Given the description of an element on the screen output the (x, y) to click on. 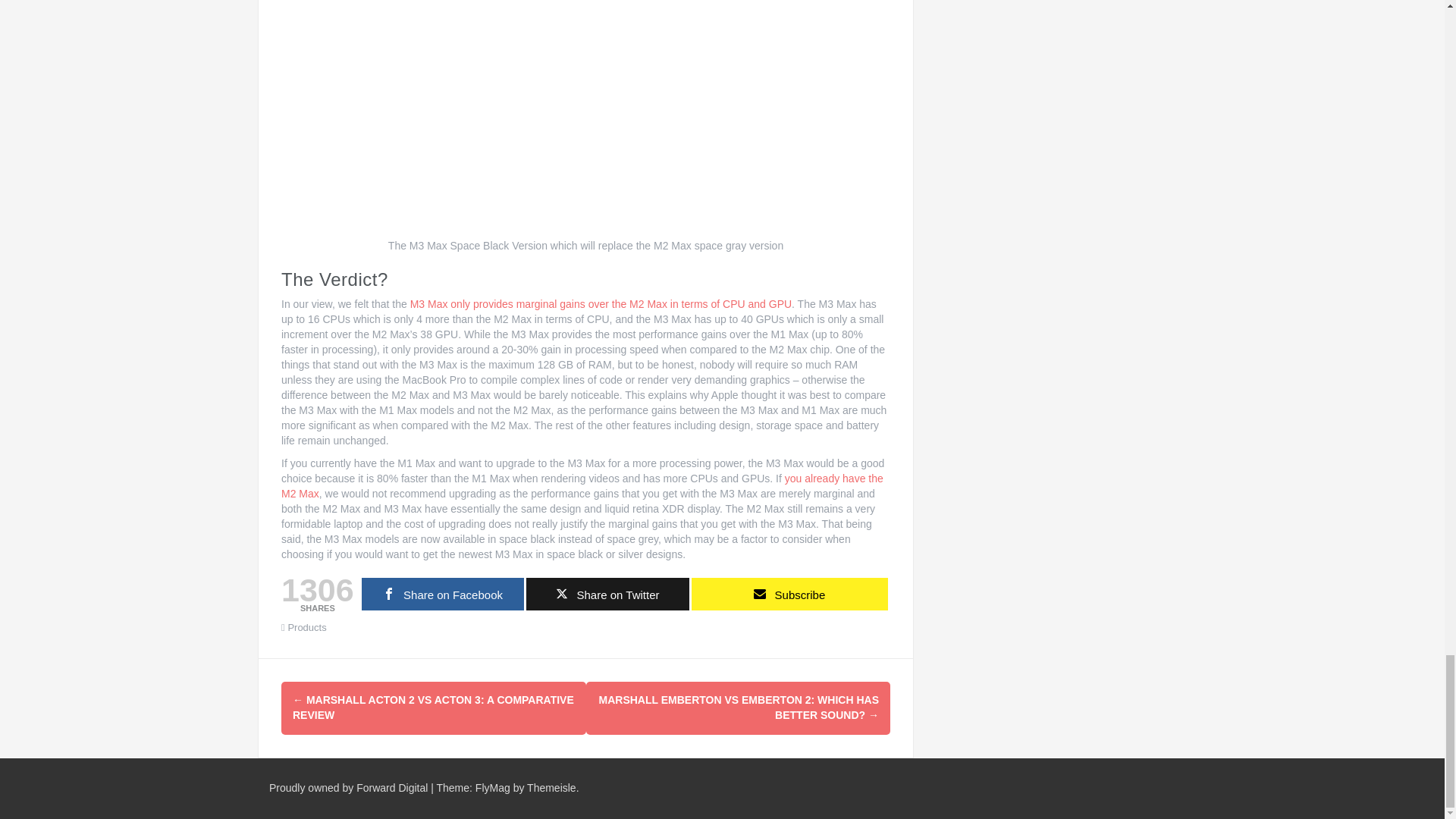
Subscribe (789, 594)
you already have the M2 Max (582, 485)
Share on Twitter (606, 594)
Share on Facebook (442, 594)
